Given the description of an element on the screen output the (x, y) to click on. 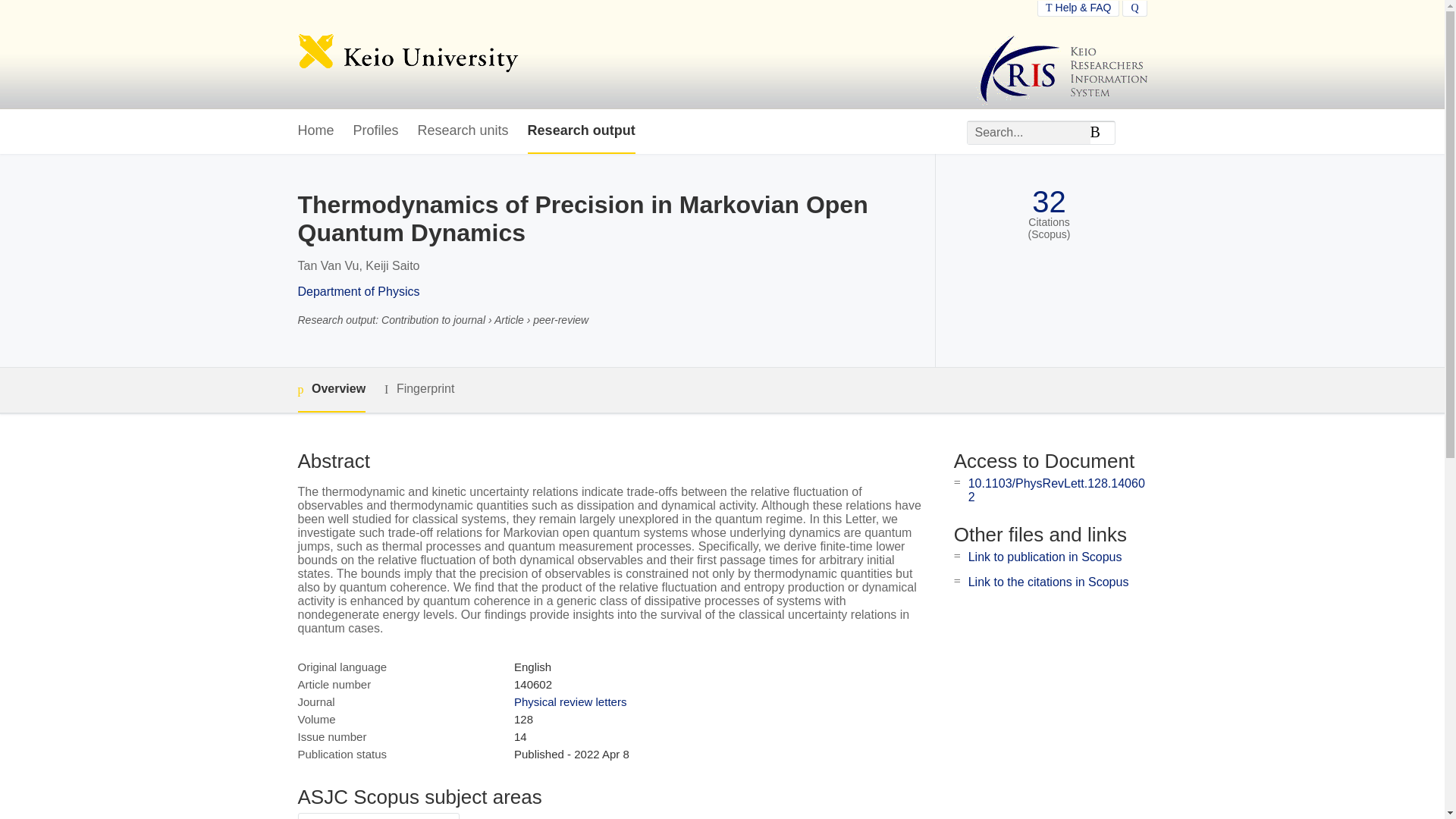
Profiles (375, 130)
Link to publication in Scopus (1045, 556)
32 (1048, 202)
Overview (331, 389)
Fingerprint (419, 389)
Research output (580, 130)
Keio University Home (407, 54)
Department of Physics (358, 291)
Link to the citations in Scopus (1048, 581)
